Given the description of an element on the screen output the (x, y) to click on. 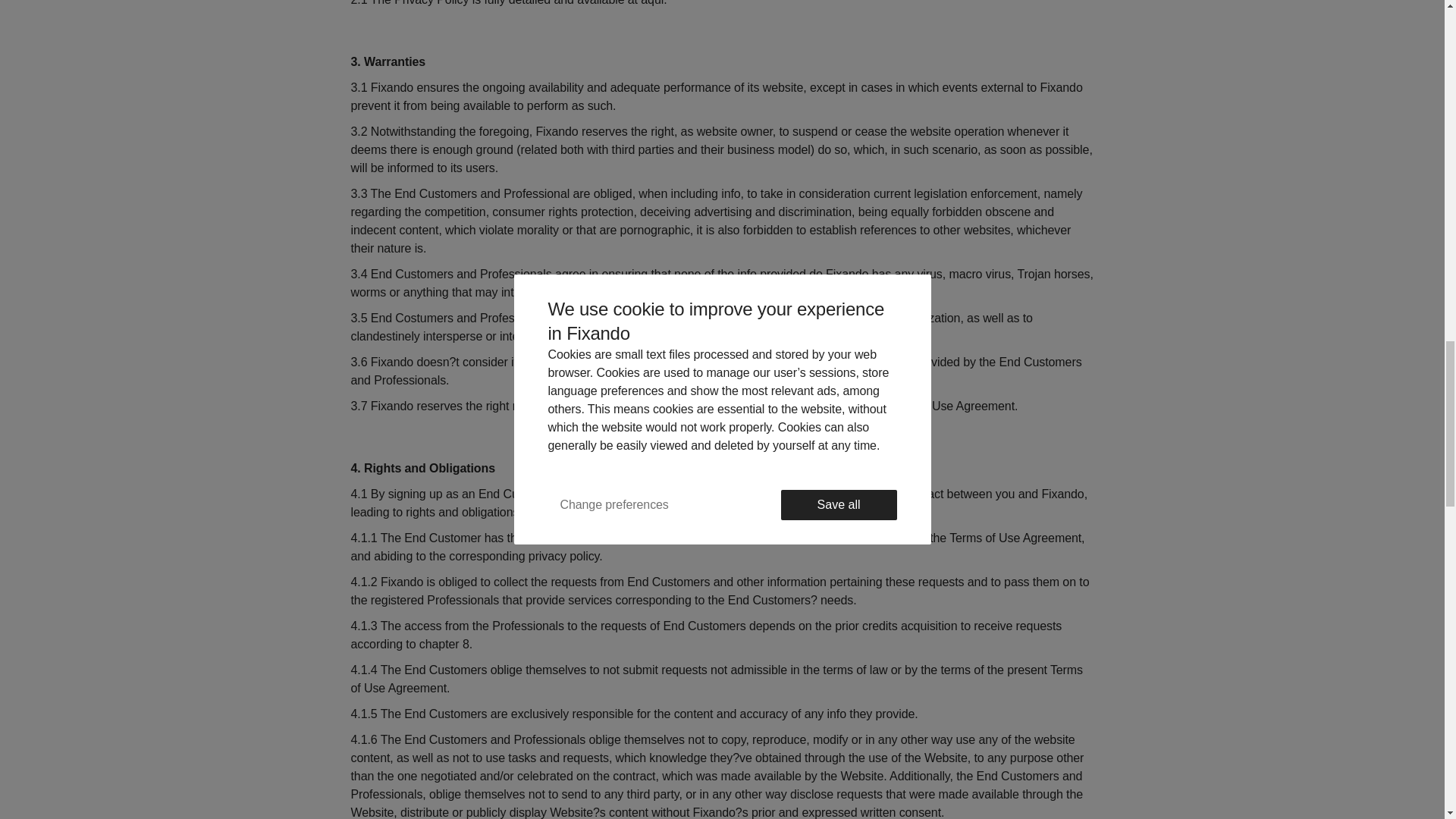
aqui (651, 2)
